Given the description of an element on the screen output the (x, y) to click on. 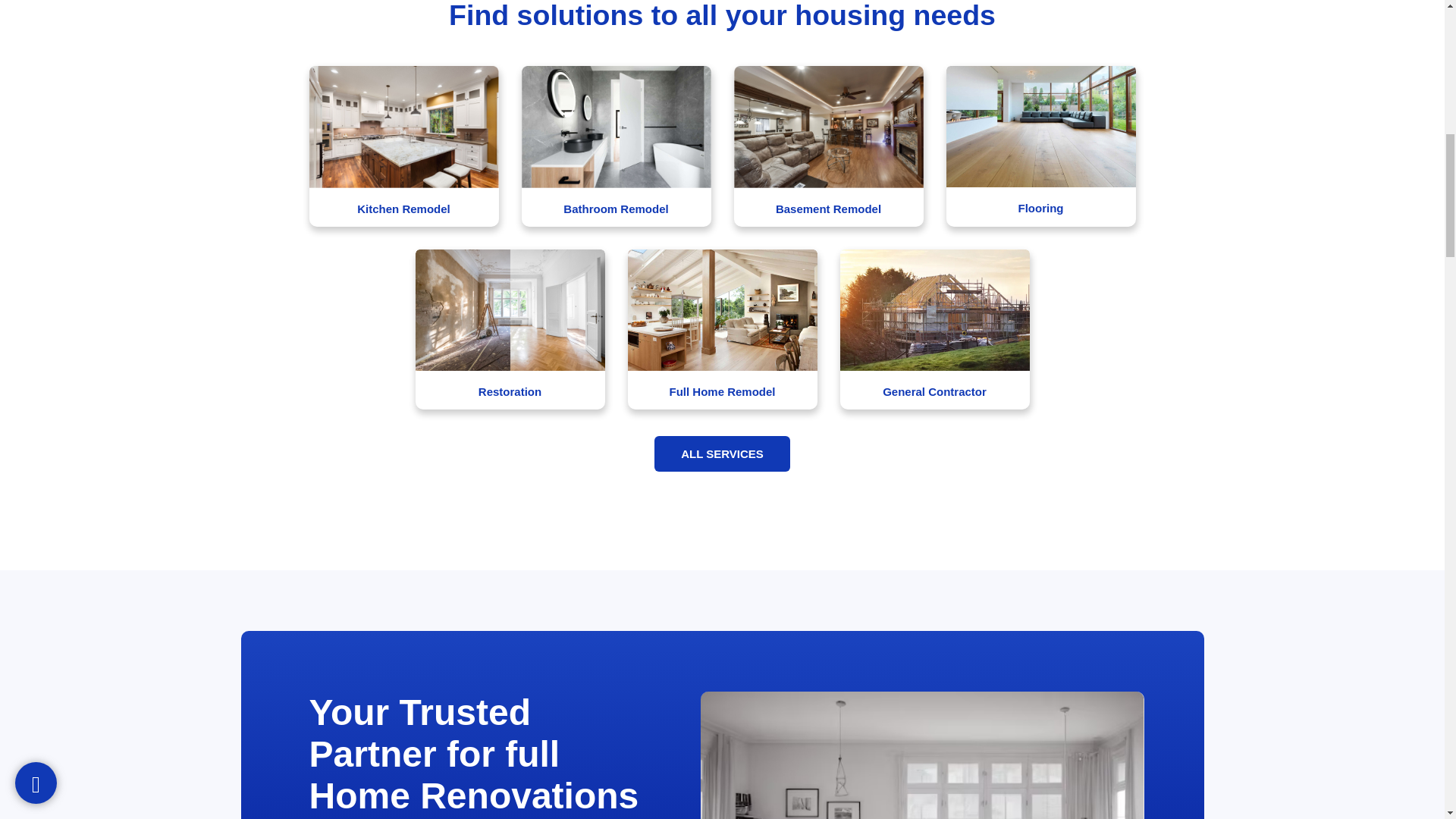
Maps (48, 3)
Waze (49, 4)
